Given the description of an element on the screen output the (x, y) to click on. 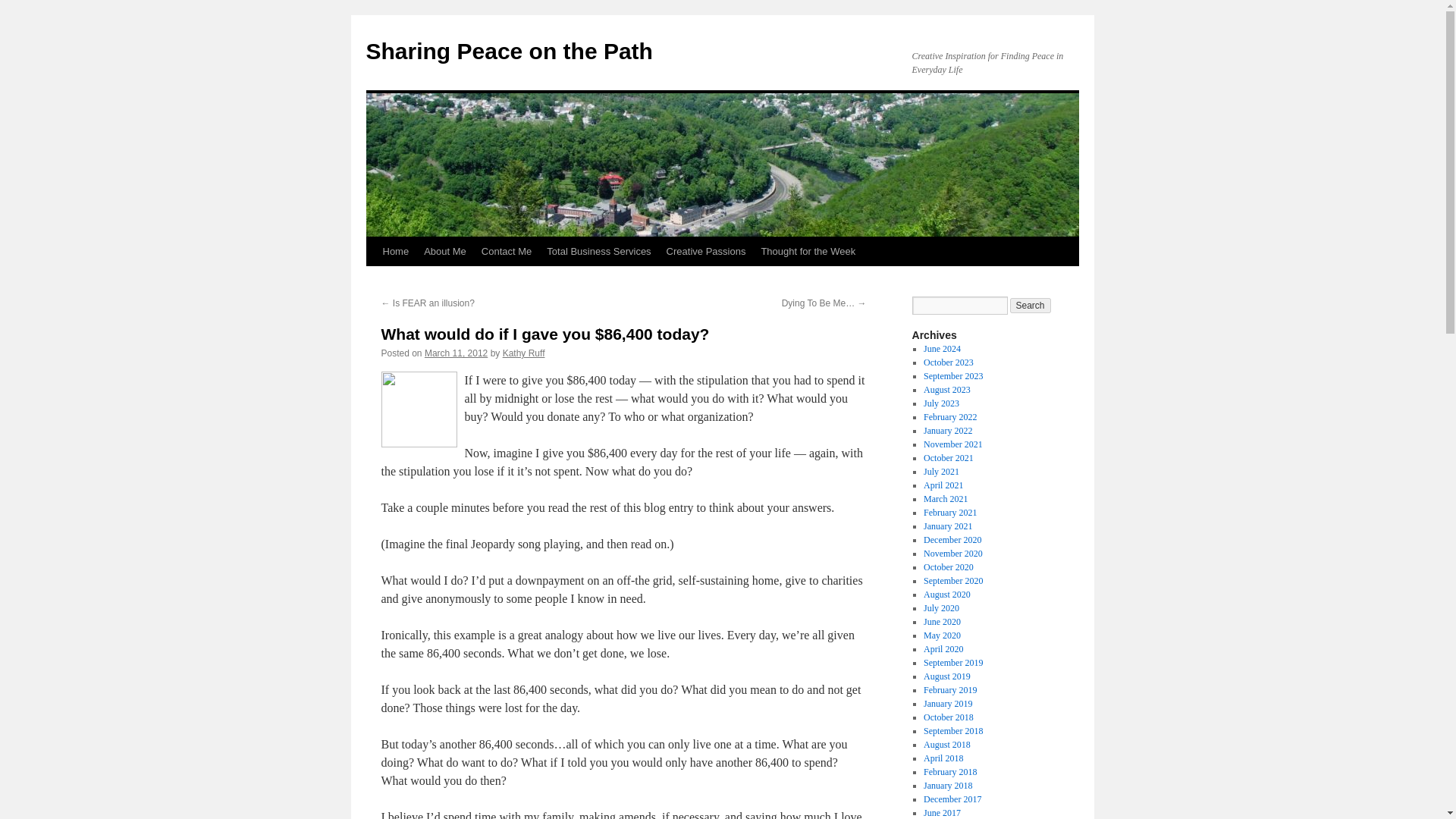
March 2021 (945, 498)
July 2023 (941, 403)
January 2022 (947, 430)
Search (1030, 305)
View all posts by Kathy Ruff (523, 353)
About Me (445, 251)
Sharing Peace on the Path (508, 50)
March 11, 2012 (456, 353)
April 2021 (942, 484)
July 2021 (941, 471)
Home (395, 251)
About Me (445, 251)
Contact Me (506, 251)
October 2021 (948, 457)
November 2021 (952, 443)
